Given the description of an element on the screen output the (x, y) to click on. 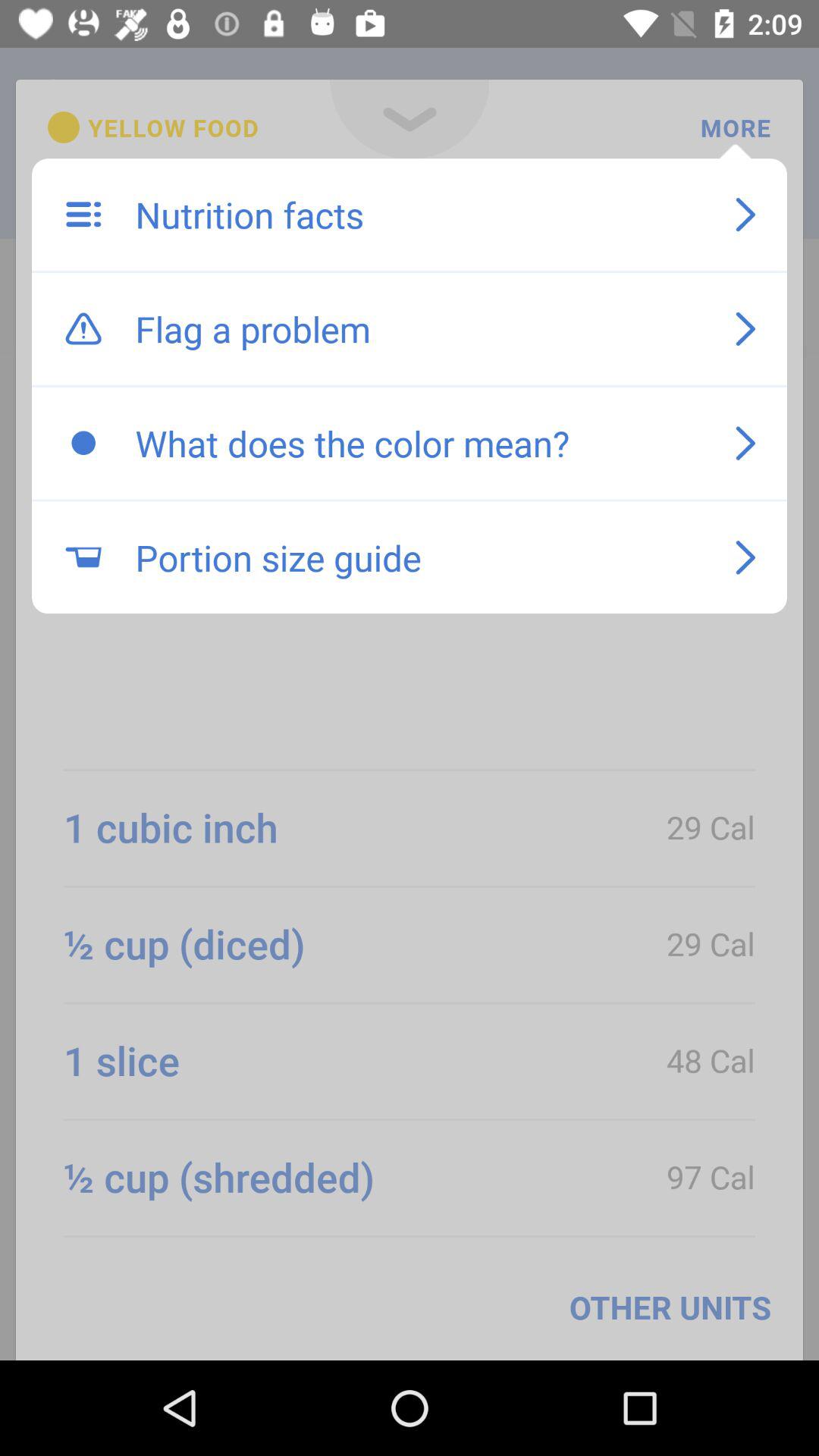
click item above flag a problem icon (419, 214)
